Given the description of an element on the screen output the (x, y) to click on. 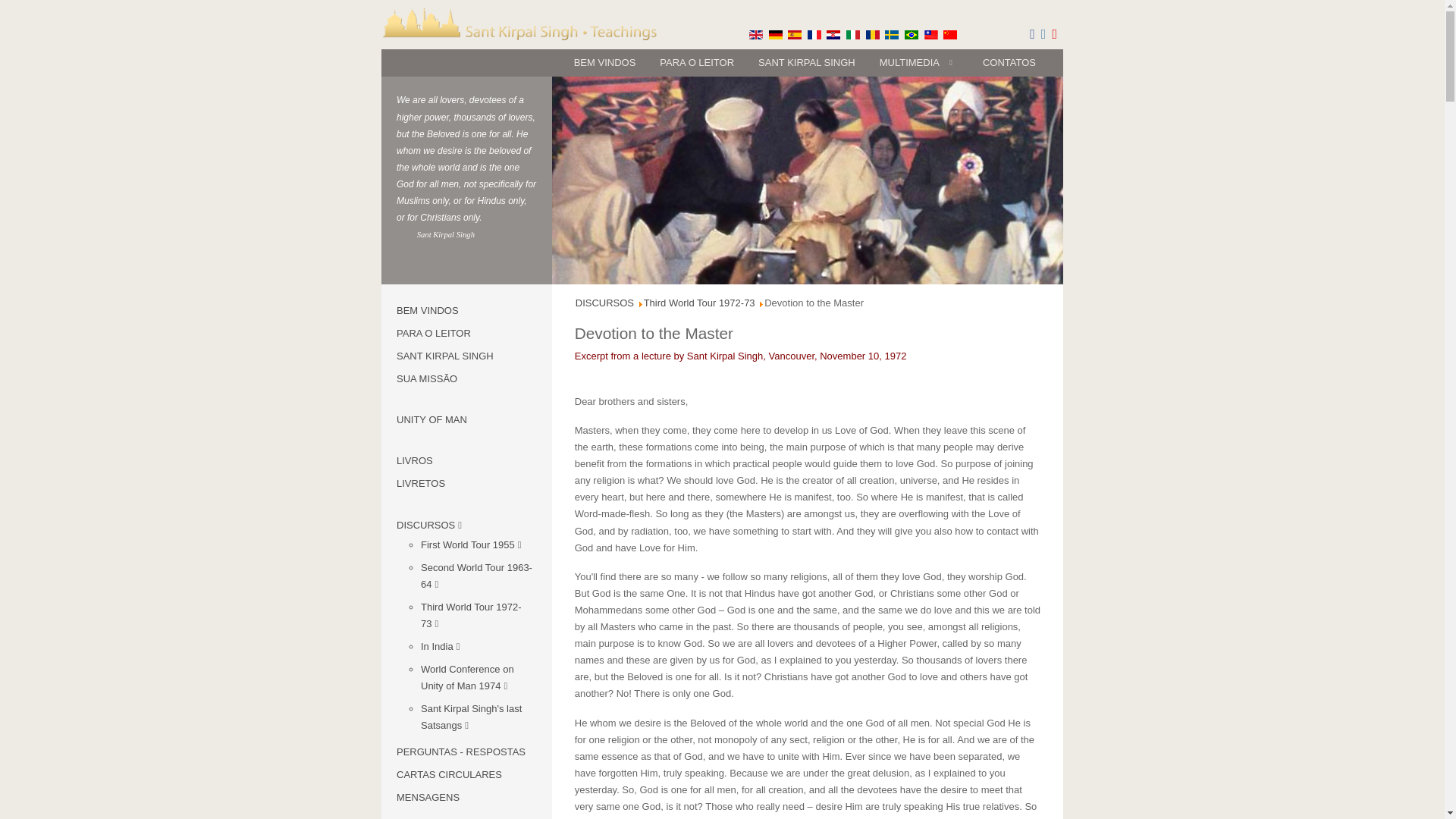
SANT KIRPAL SINGH (806, 62)
MULTIMEDIA (919, 62)
Deutsch (775, 34)
BEM VINDOS (604, 62)
Italiano (852, 34)
English  (755, 34)
Hrvatski (833, 34)
CONTATOS (1009, 62)
French (814, 34)
Svenska (891, 34)
PARA O LEITOR (696, 62)
